Given the description of an element on the screen output the (x, y) to click on. 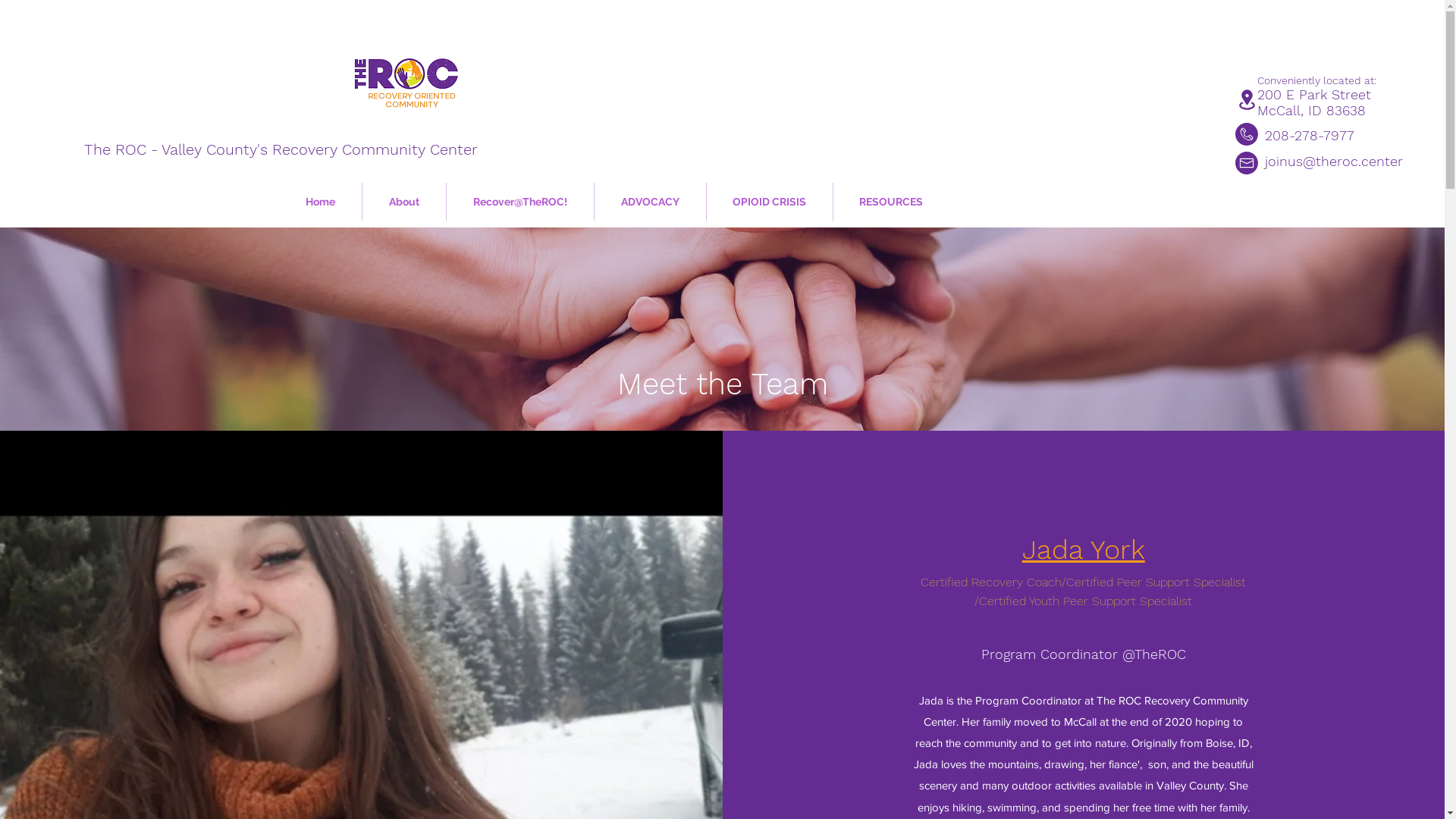
Home Element type: text (320, 201)
OPIOID CRISIS Element type: text (769, 201)
ADVOCACY Element type: text (650, 201)
About Element type: text (403, 201)
The ROC - Valley County's Recovery Community Center Element type: text (280, 149)
Jada York Element type: text (1083, 549)
Recover@TheROC! Element type: text (519, 201)
RESOURCES Element type: text (890, 201)
